Given the description of an element on the screen output the (x, y) to click on. 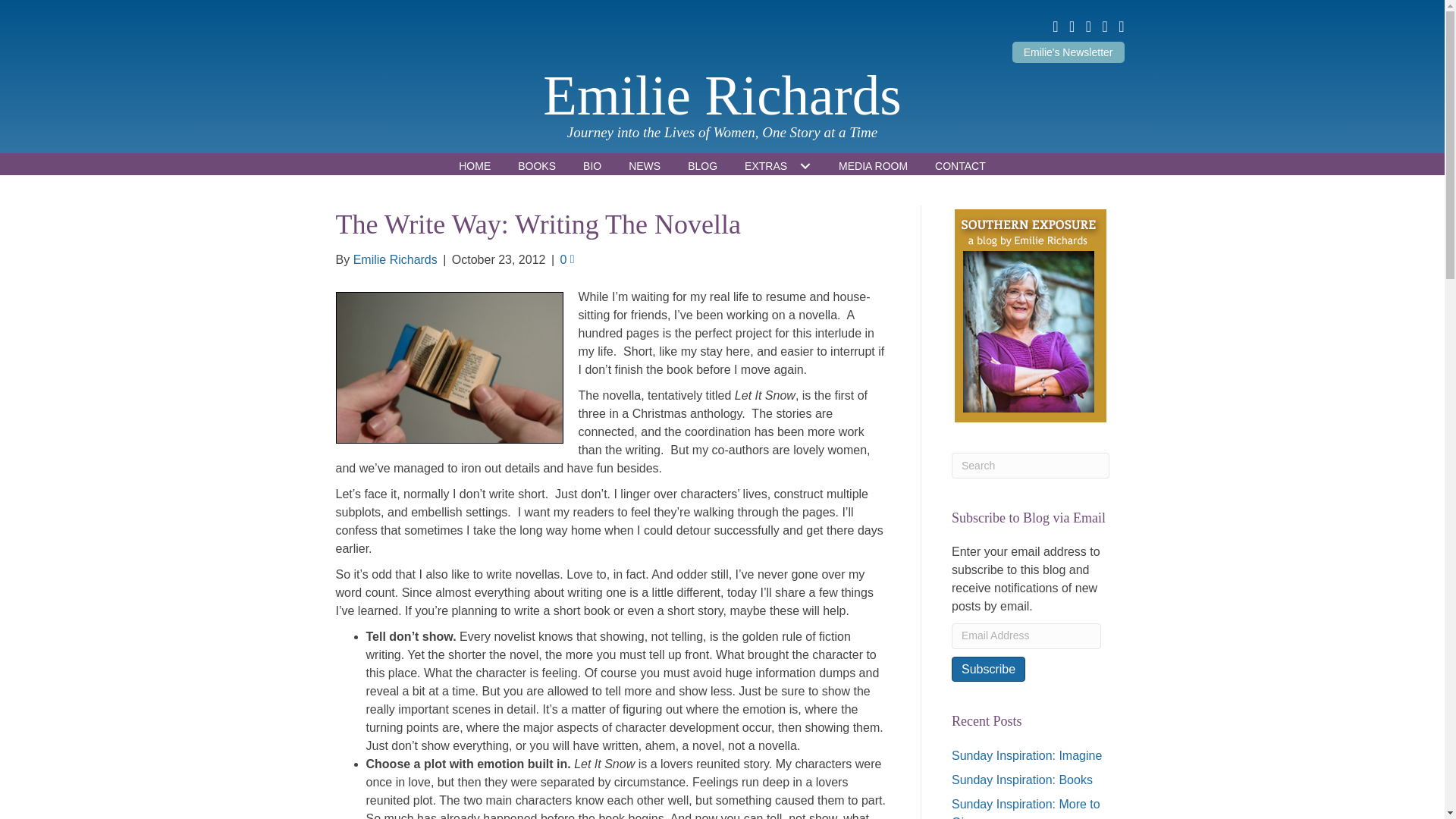
Emilie Richards (722, 95)
Subscribe (988, 668)
Type and press Enter to search. (1030, 465)
MEDIA ROOM (873, 166)
Emilie Richards (722, 95)
Sunday Inspiration: Imagine (1027, 755)
HOME (474, 166)
CONTACT (959, 166)
Emilie Richards (395, 259)
EXTRAS (777, 166)
